Given the description of an element on the screen output the (x, y) to click on. 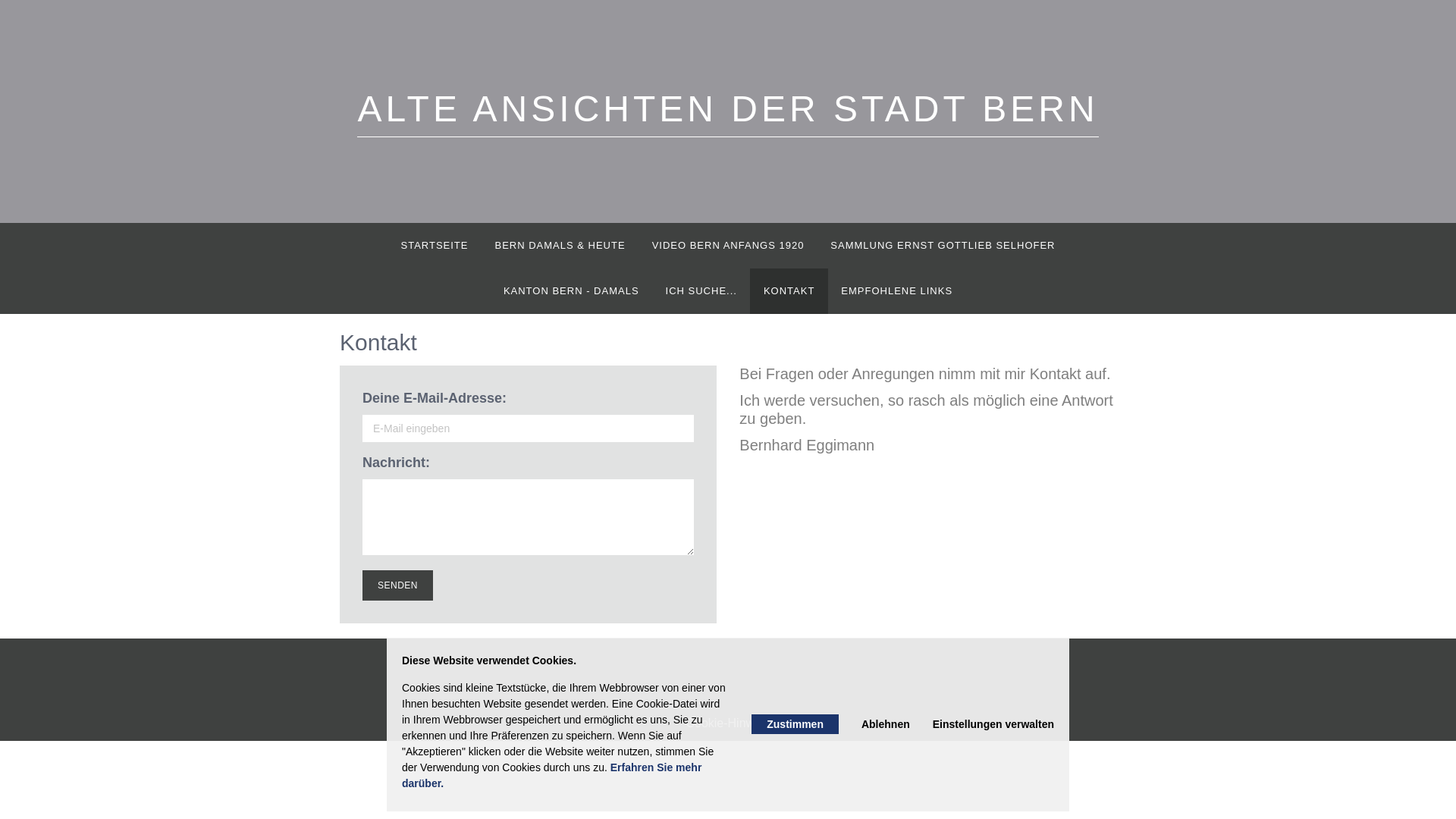
STARTSEITE Element type: text (434, 245)
VIDEO BERN ANFANGS 1920 Element type: text (727, 245)
Cookie-Hinweis Element type: text (727, 723)
EMPFOHLENE LINKS Element type: text (897, 290)
Zustimmen Element type: text (794, 724)
BERN DAMALS & HEUTE Element type: text (559, 245)
SAMMLUNG ERNST GOTTLIEB SELHOFER Element type: text (942, 245)
ICH SUCHE... Element type: text (700, 290)
SENDEN Element type: text (397, 585)
KANTON BERN - DAMALS Element type: text (570, 290)
KONTAKT Element type: text (788, 290)
Ablehnen Element type: text (885, 724)
Einstellungen verwalten Element type: text (993, 724)
ALTE ANSICHTEN DER STADT BERN Element type: text (727, 112)
